Given the description of an element on the screen output the (x, y) to click on. 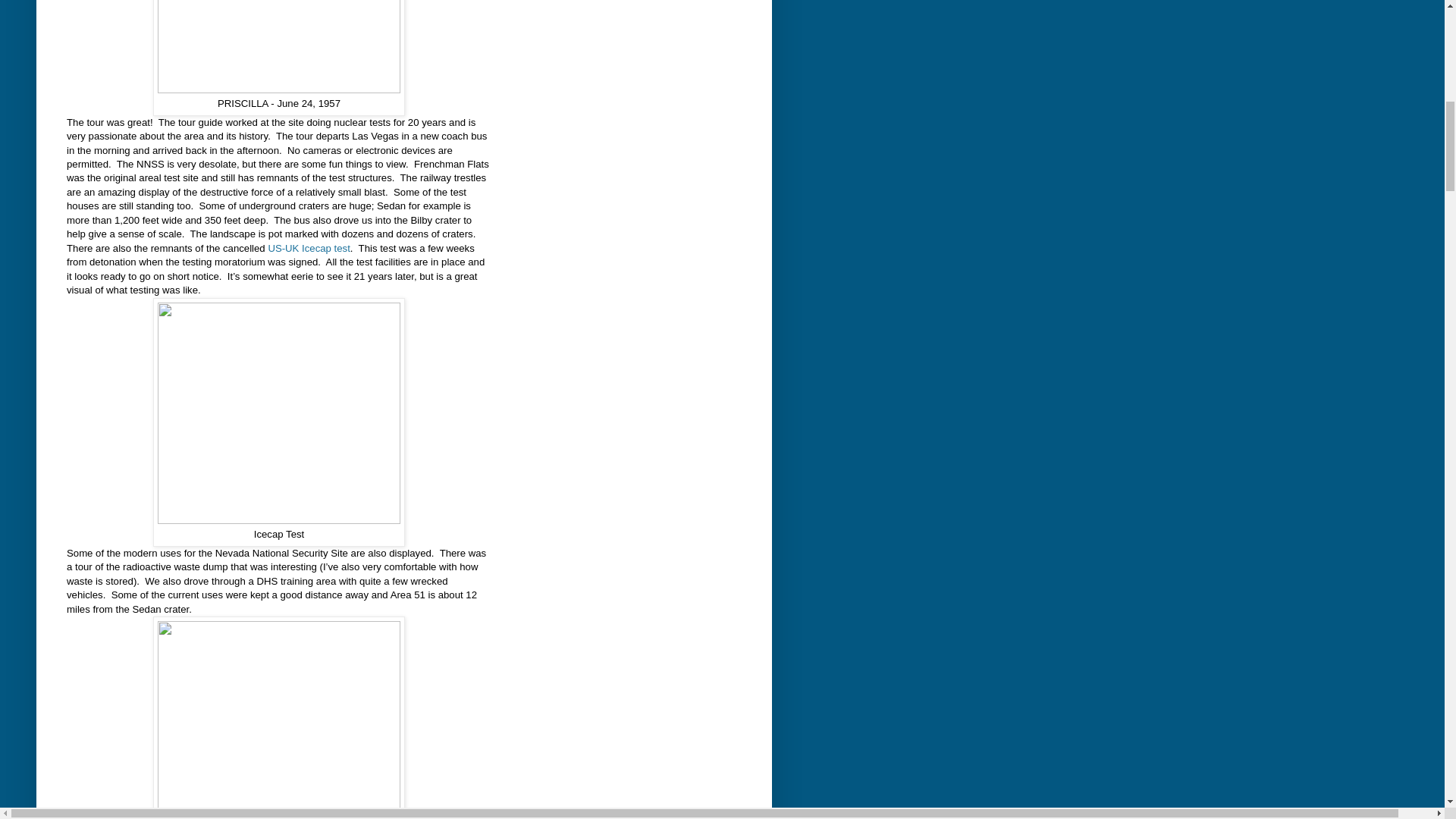
US-UK Icecap test (308, 247)
